Given the description of an element on the screen output the (x, y) to click on. 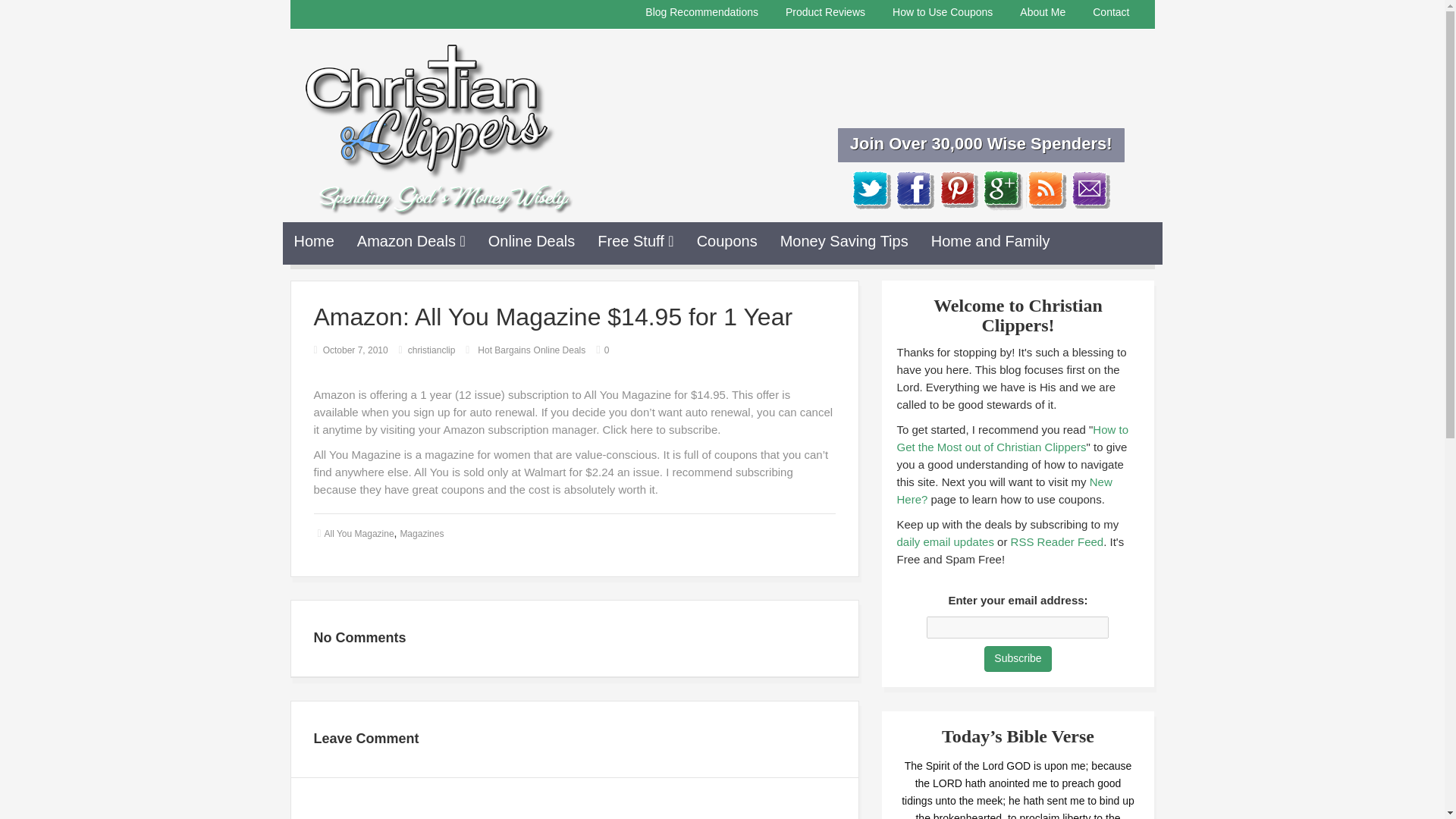
Home (313, 240)
Blog Recommendations (701, 12)
Home and Family (990, 240)
About Me (1043, 12)
Free Stuff (635, 240)
Coupons (726, 240)
Product Reviews (825, 12)
Contact (1110, 12)
Money Saving Tips (844, 240)
Subscribe (1017, 658)
